Given the description of an element on the screen output the (x, y) to click on. 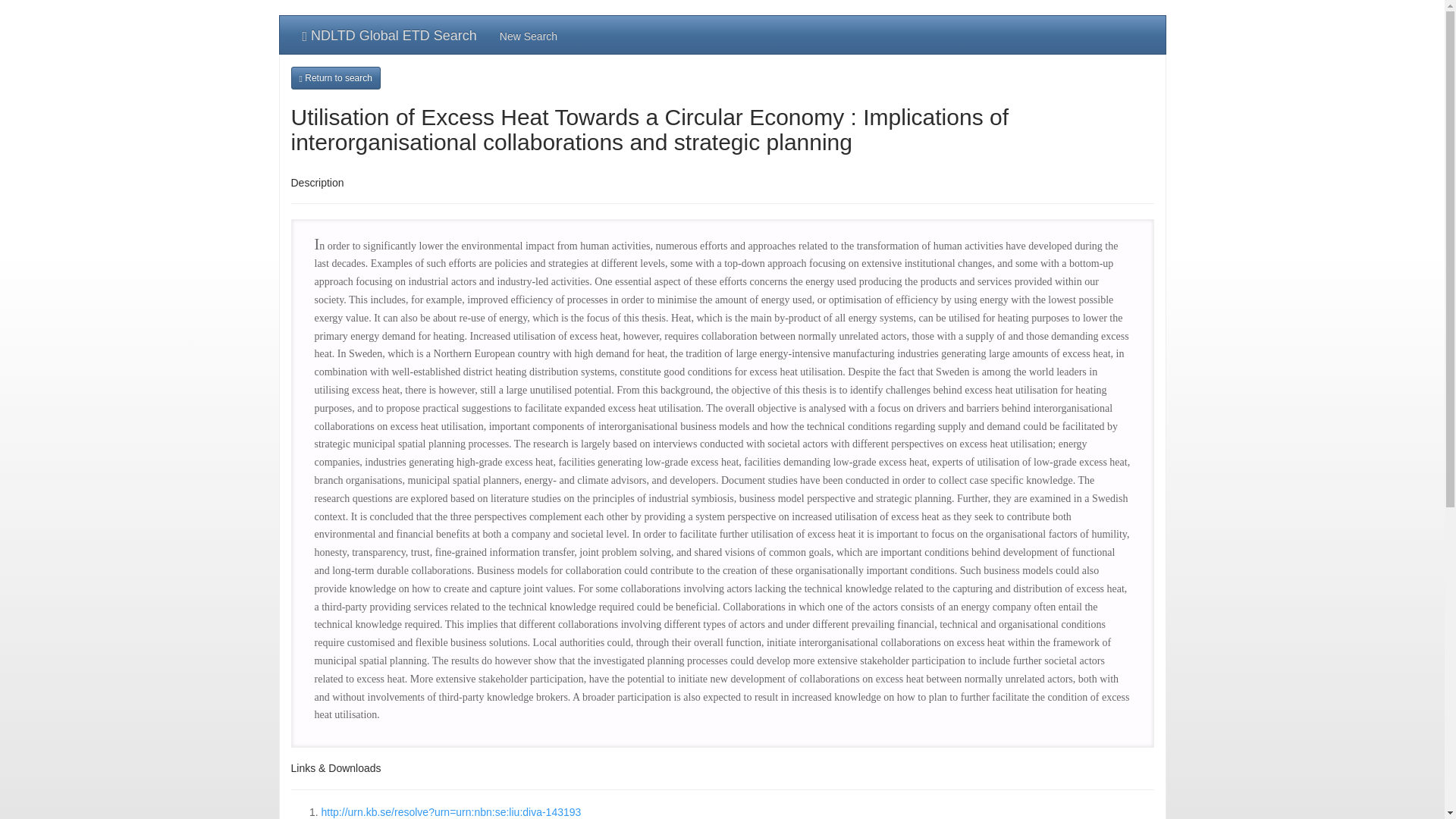
New Search (528, 34)
Return to search (335, 77)
NDLTD Global ETD Search (389, 34)
